Given the description of an element on the screen output the (x, y) to click on. 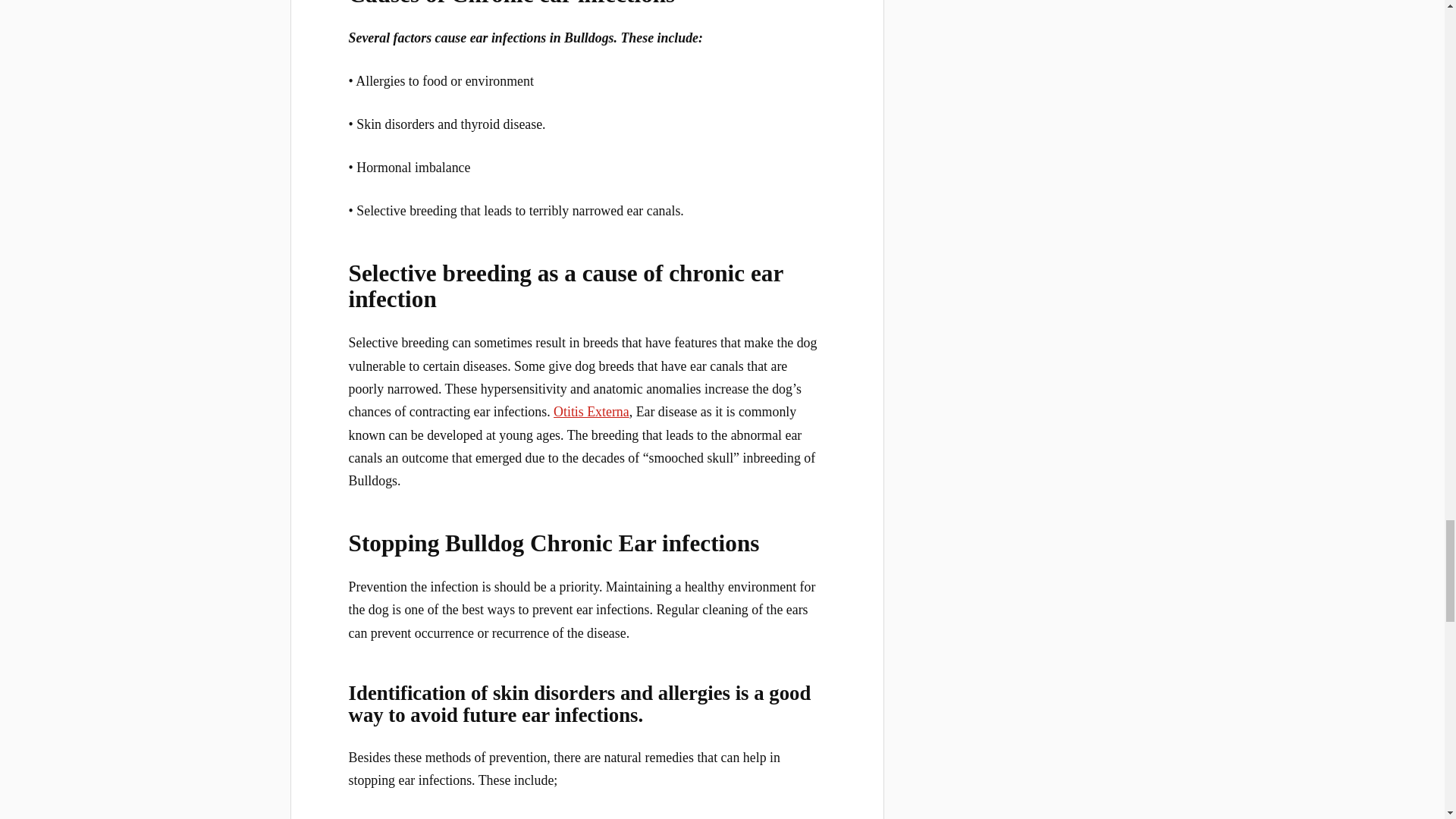
Otitis Externa (590, 411)
